Given the description of an element on the screen output the (x, y) to click on. 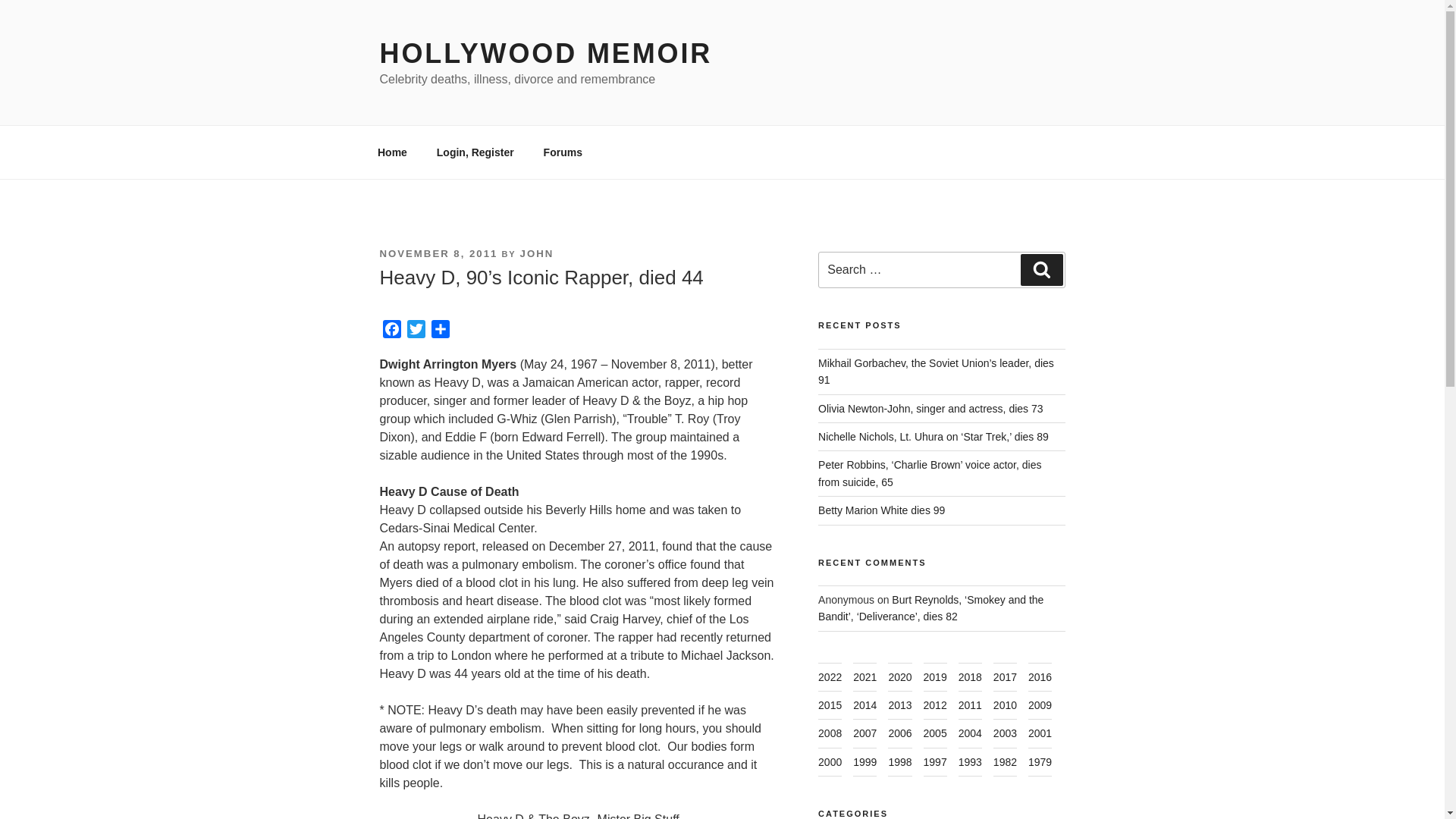
JOHN (536, 253)
Betty Marion White dies 99 (881, 510)
HOLLYWOOD MEMOIR (544, 52)
NOVEMBER 8, 2011 (437, 253)
2014 (864, 705)
2018 (969, 676)
2012 (935, 705)
2008 (829, 733)
2021 (864, 676)
2009 (1039, 705)
Facebook (390, 331)
Twitter (415, 331)
Olivia Newton-John, singer and actress, dies 73 (930, 408)
2020 (899, 676)
2015 (829, 705)
